Given the description of an element on the screen output the (x, y) to click on. 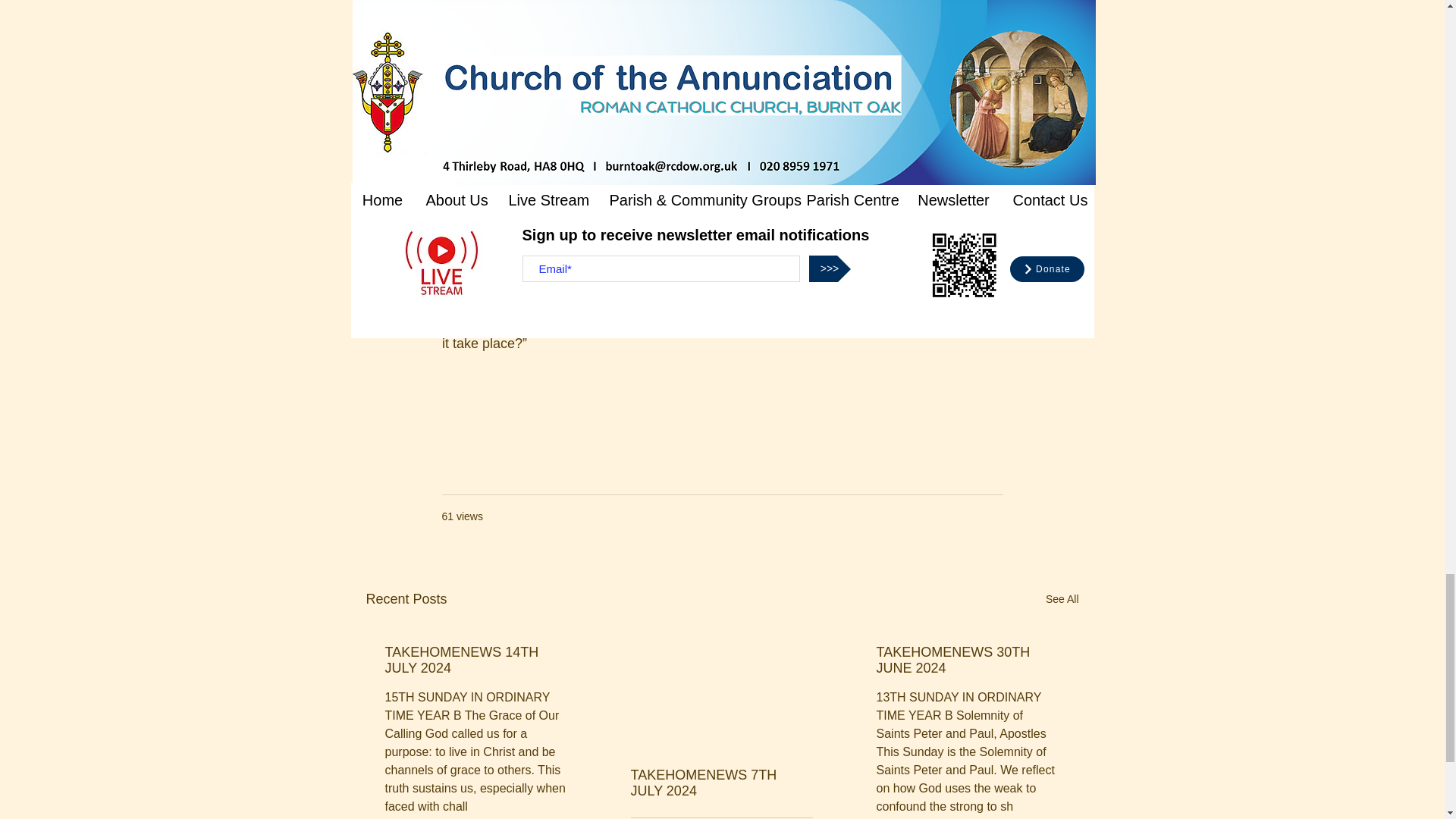
TAKEHOMENEWS 30TH JUNE 2024 (967, 660)
TAKEHOMENEWS 14TH JULY 2024 (476, 660)
See All (1061, 599)
TAKEHOMENEWS 7TH JULY 2024 (721, 783)
